Given the description of an element on the screen output the (x, y) to click on. 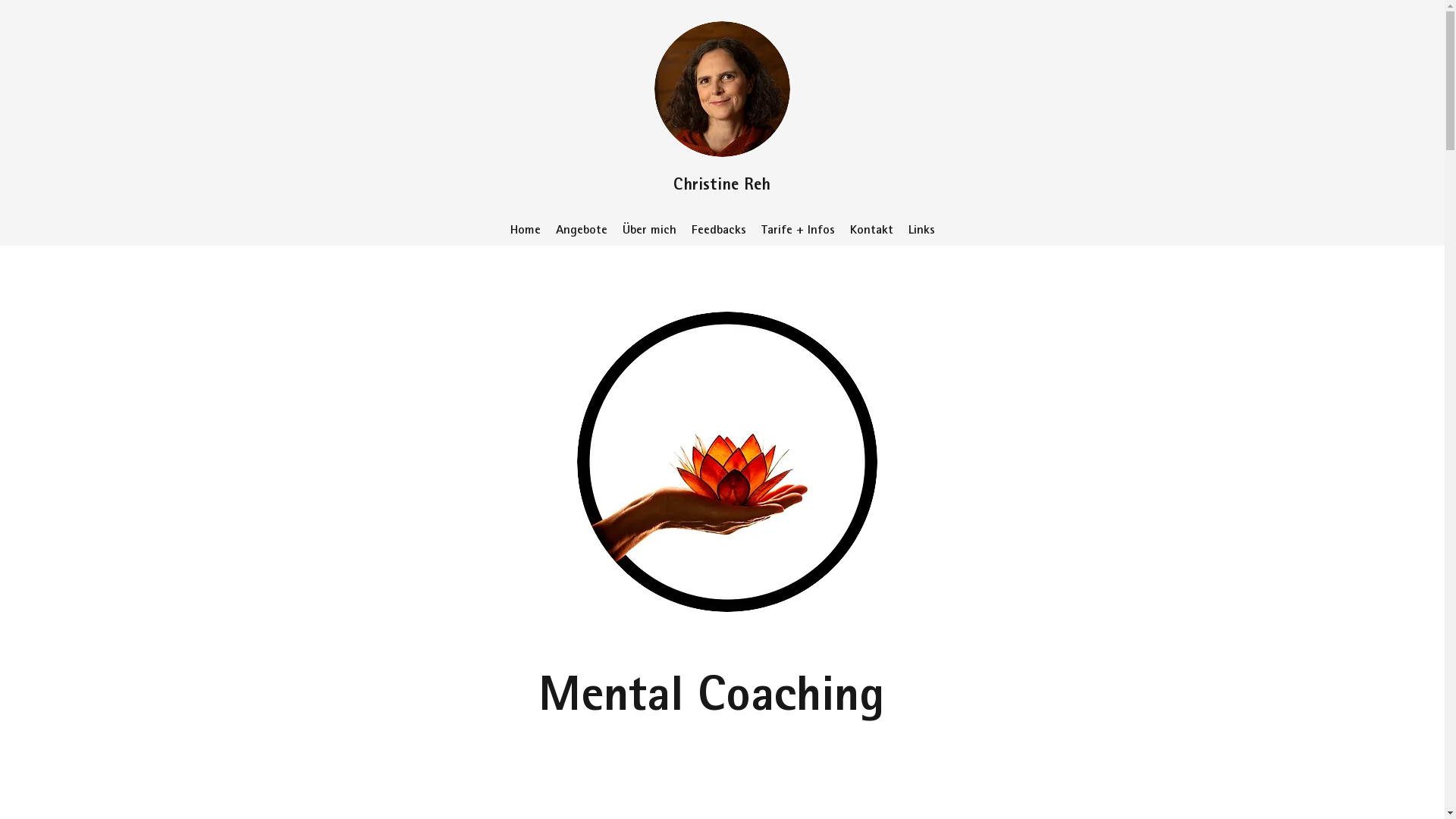
Tarife + Infos Element type: text (797, 230)
Home Element type: text (524, 230)
Links Element type: text (921, 230)
Christine Reh Element type: text (721, 196)
Kontakt Element type: text (870, 230)
Feedbacks Element type: text (718, 230)
Angebote Element type: text (580, 230)
